Given the description of an element on the screen output the (x, y) to click on. 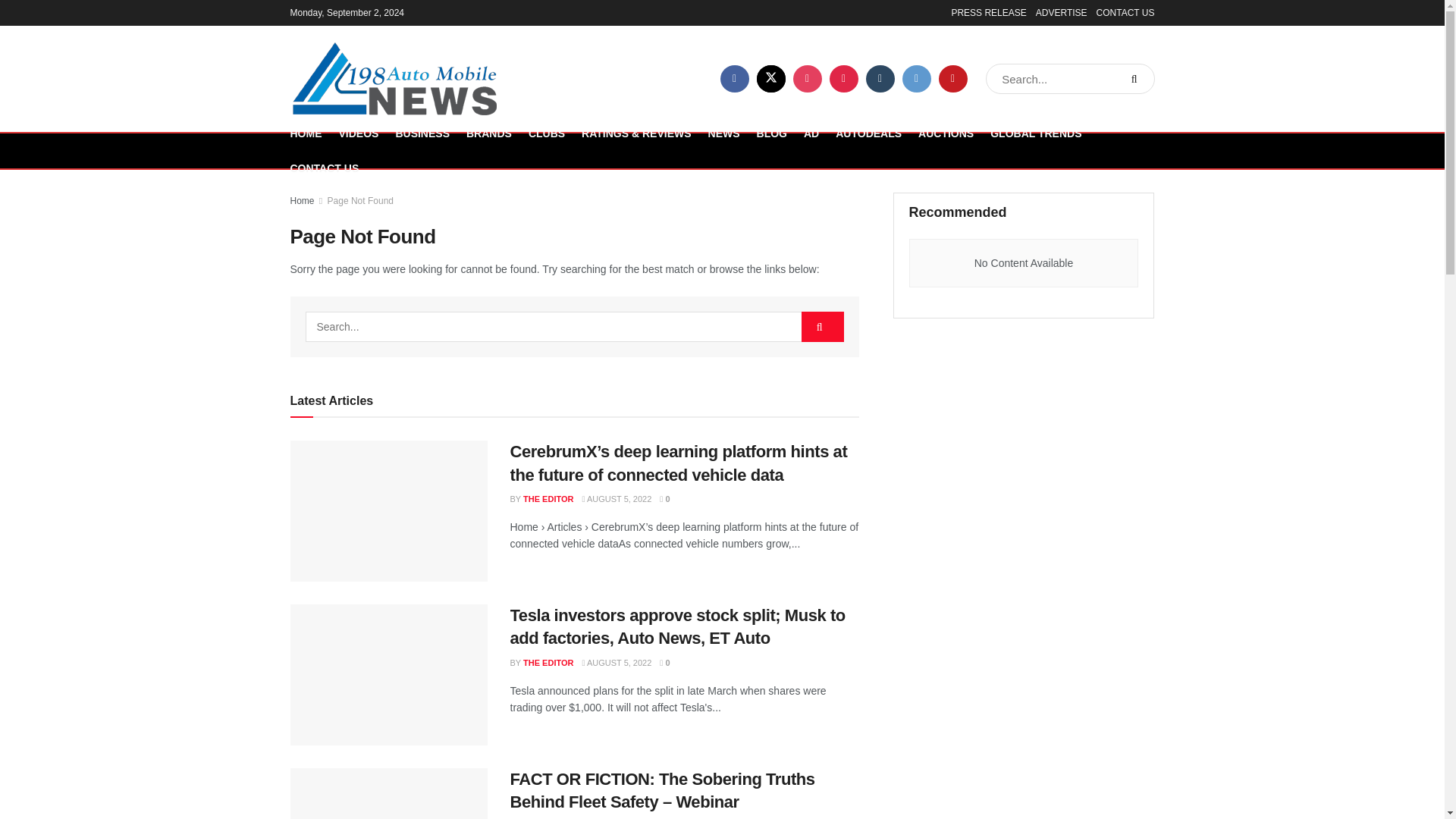
BLOG (772, 133)
HOME (305, 133)
ADVERTISE (1061, 12)
NEWS (723, 133)
CLUBS (546, 133)
CONTACT US (323, 168)
CONTACT US (1125, 12)
AUCTIONS (946, 133)
BRANDS (488, 133)
GLOBAL TRENDS (1035, 133)
